Given the description of an element on the screen output the (x, y) to click on. 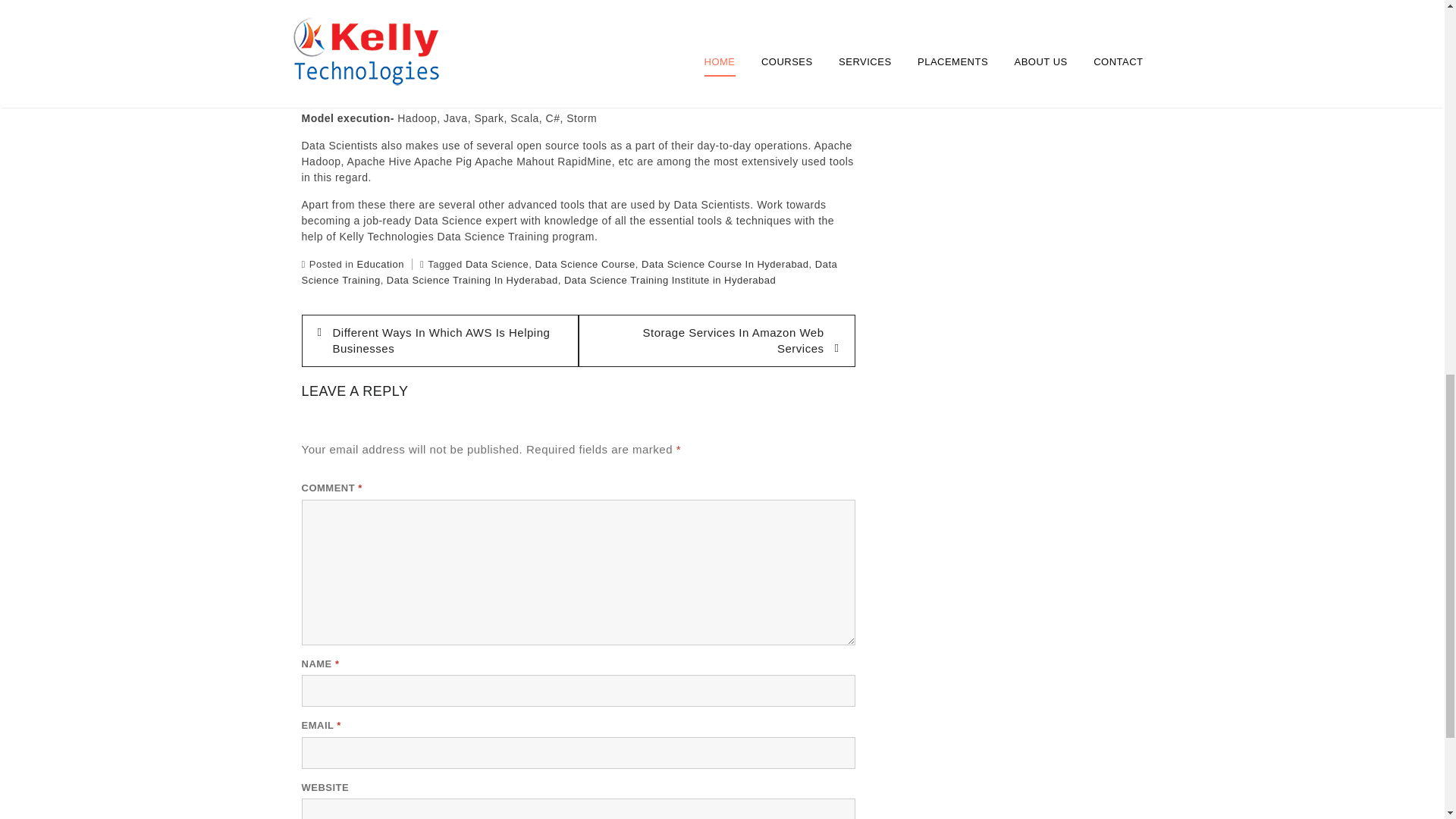
Data Science Training In Hyderabad (472, 279)
Data Science Course (584, 264)
Data Science Training Institute in Hyderabad (670, 279)
Data Science Training (569, 271)
Different Ways In Which AWS Is Helping Businesses (439, 340)
Education (380, 264)
Data Science (496, 264)
Data Science Course In Hyderabad (725, 264)
